Given the description of an element on the screen output the (x, y) to click on. 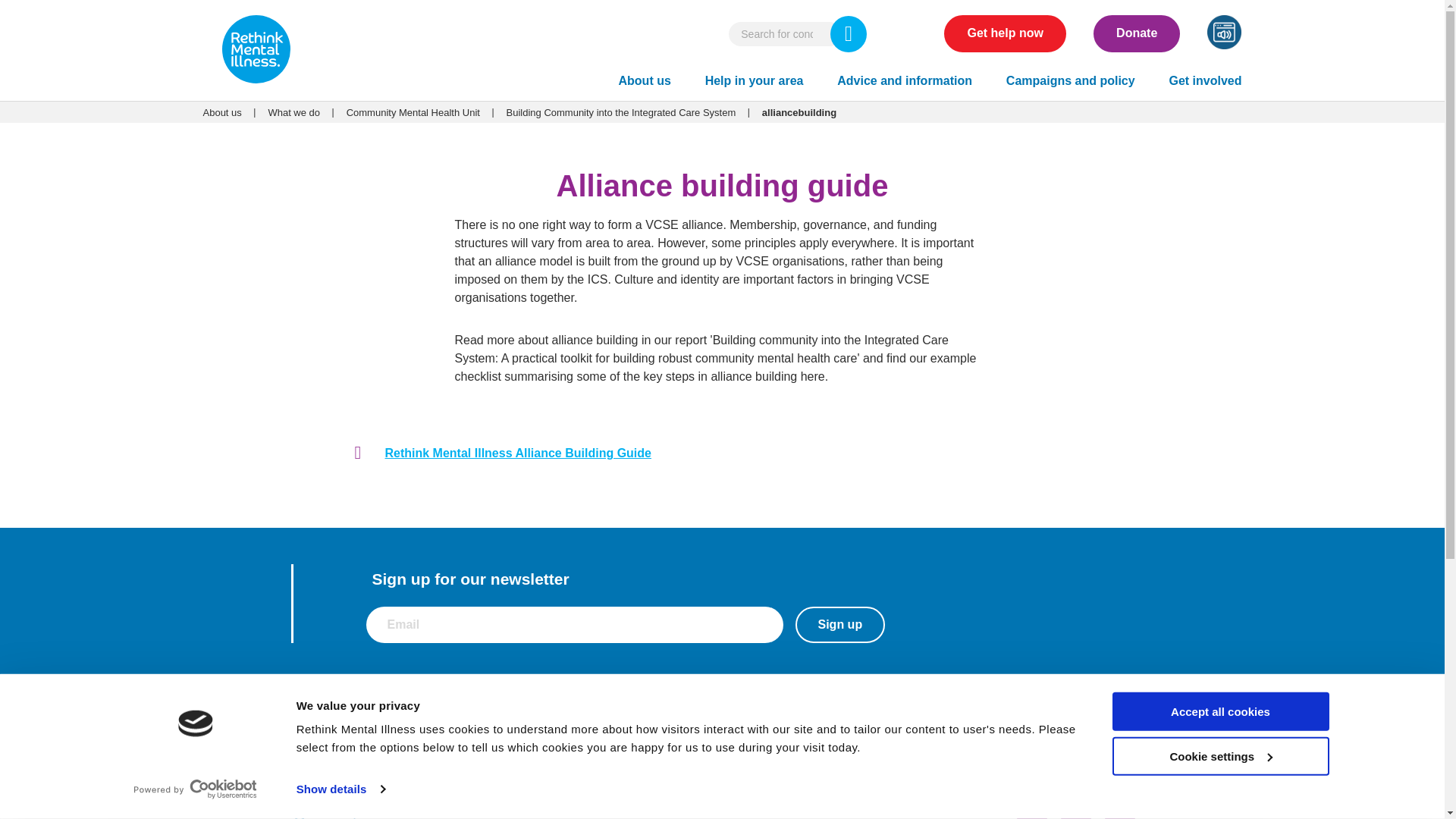
Rethink Mental Illness (255, 50)
Get help now (1004, 33)
Show details (340, 789)
Donate (1136, 33)
